Given the description of an element on the screen output the (x, y) to click on. 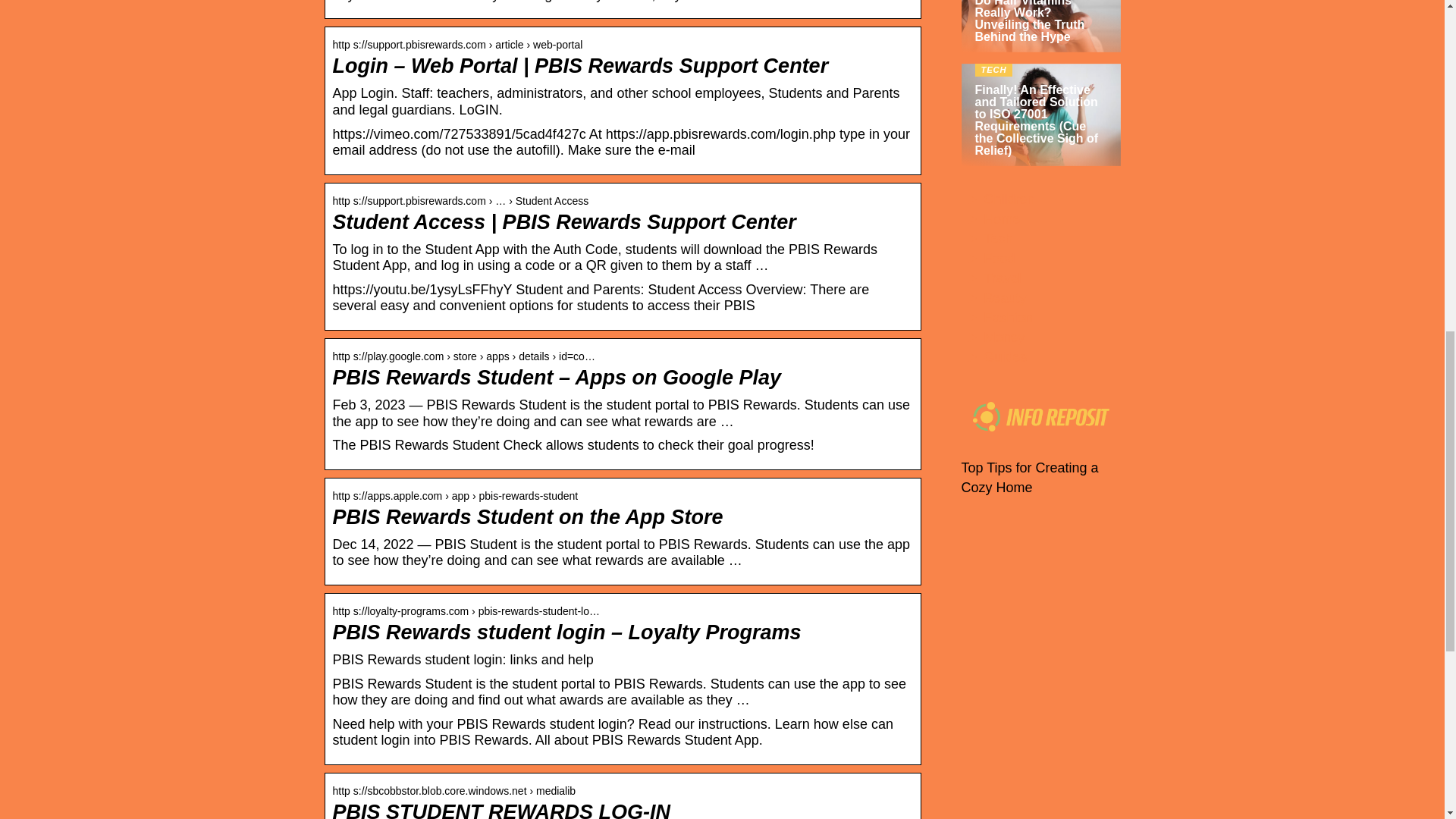
Money (1004, 337)
Beauty (1005, 297)
Home (1002, 218)
Guides (1005, 356)
Fashion (1008, 317)
Travel (1003, 278)
Tech (998, 238)
Food (999, 258)
Children (1009, 199)
Top Tips for Creating a Cozy Home (1029, 477)
